Given the description of an element on the screen output the (x, y) to click on. 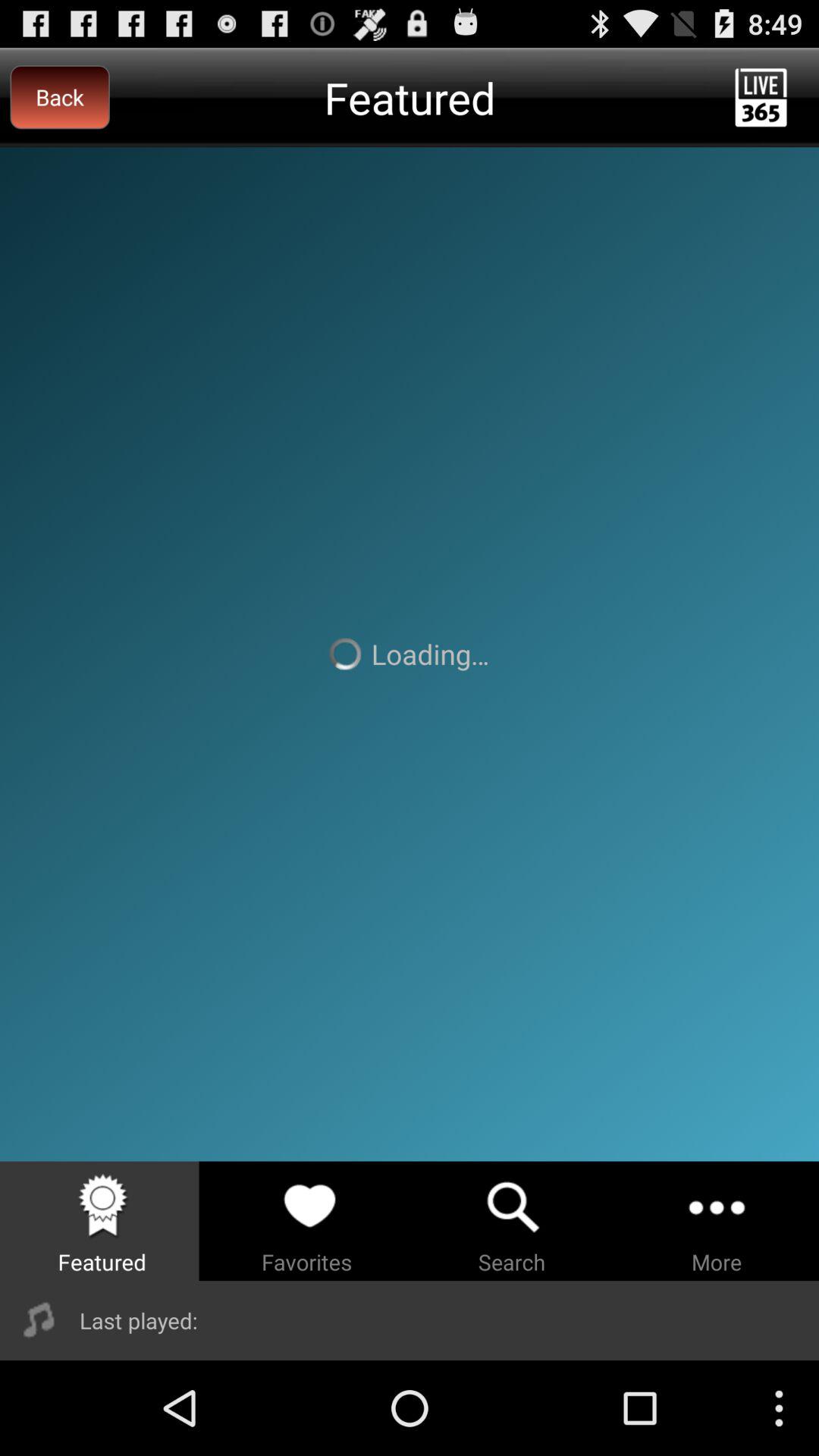
tap back at the top left corner (59, 97)
